Given the description of an element on the screen output the (x, y) to click on. 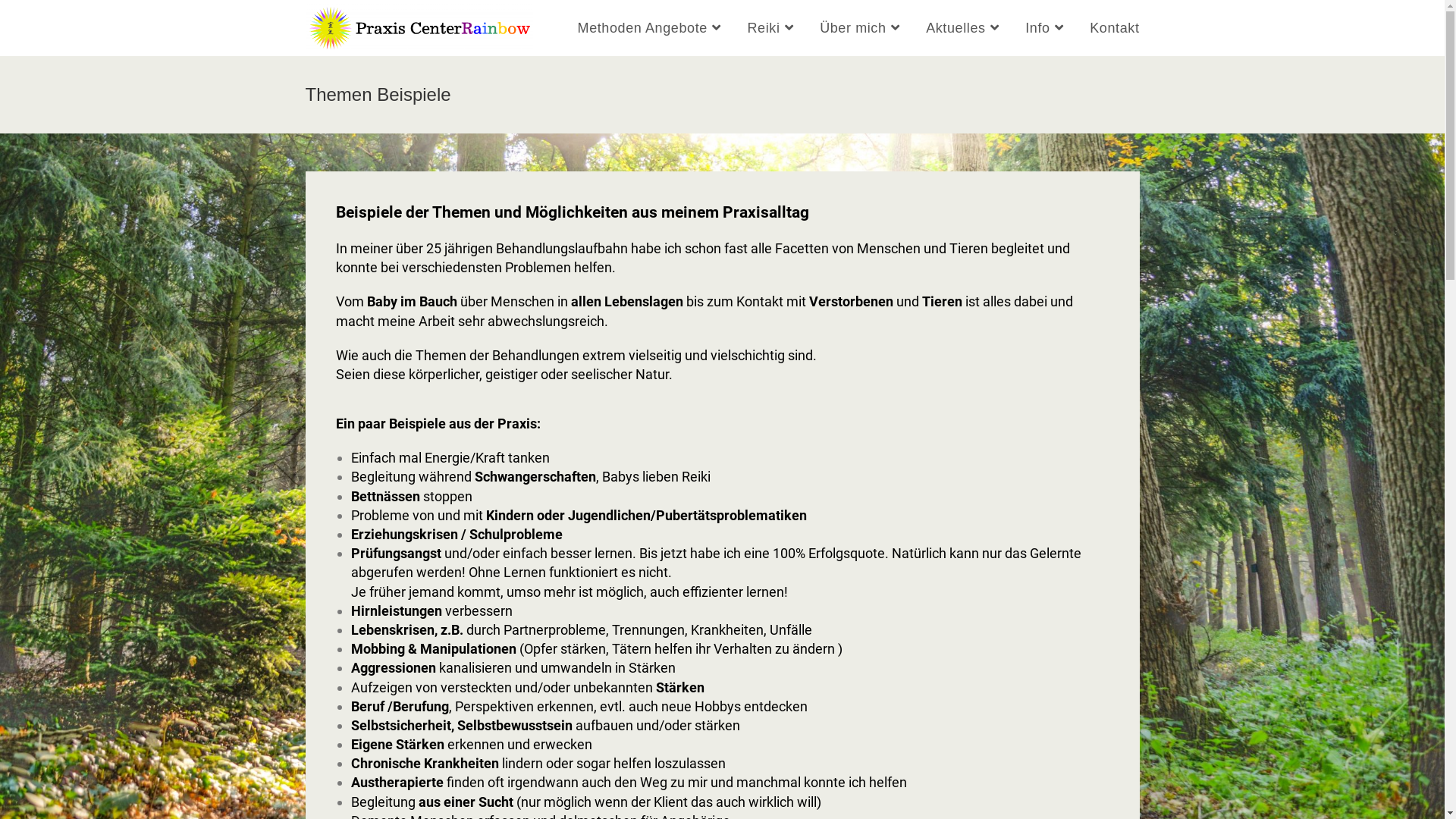
Aktuelles Element type: text (963, 28)
Info Element type: text (1045, 28)
Reiki Element type: text (771, 28)
Kontakt Element type: text (1114, 28)
Methoden Angebote Element type: text (651, 28)
